Given the description of an element on the screen output the (x, y) to click on. 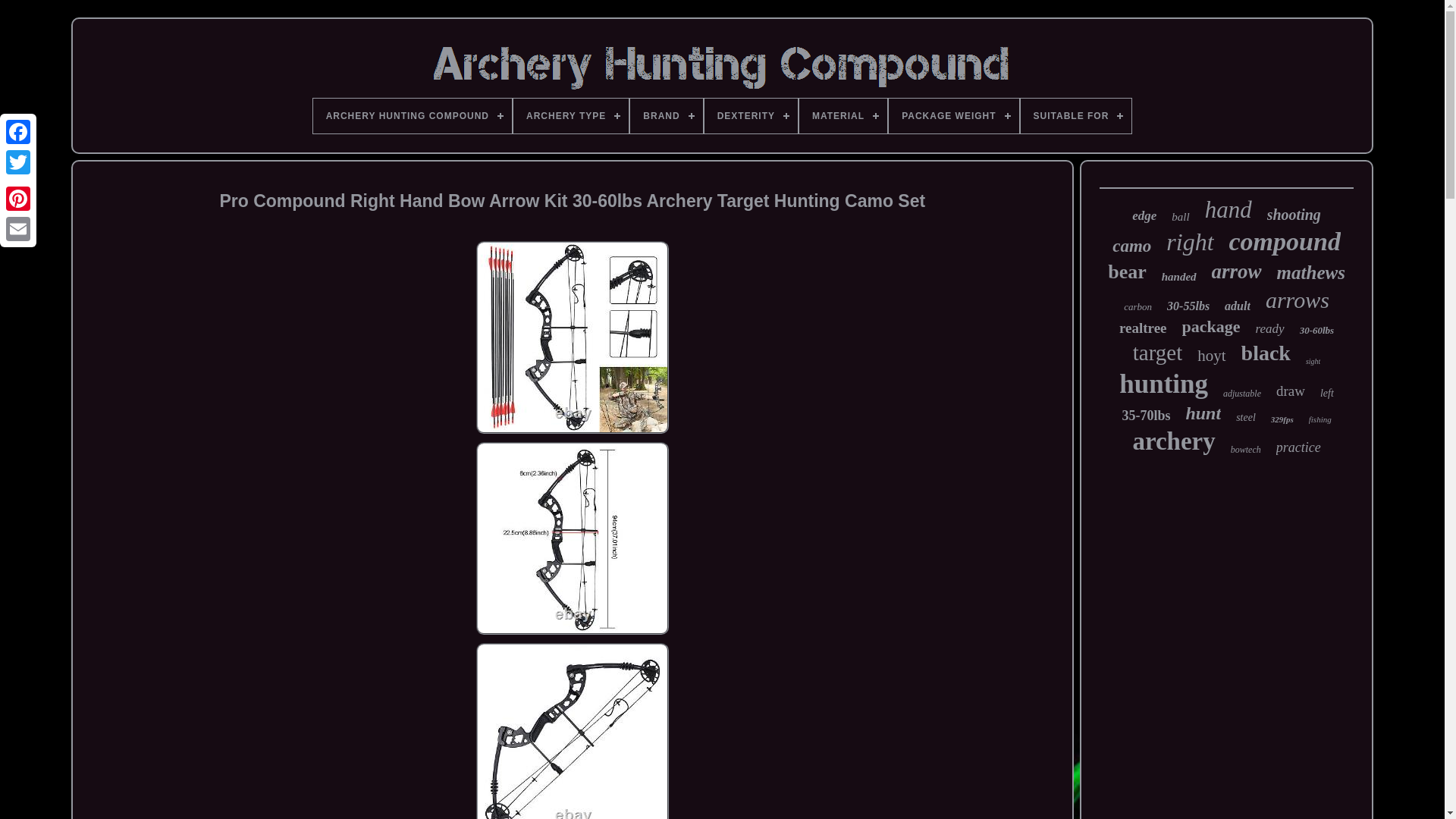
ARCHERY TYPE (570, 115)
ARCHERY HUNTING COMPOUND (412, 115)
BRAND (665, 115)
Pinterest (17, 198)
